Given the description of an element on the screen output the (x, y) to click on. 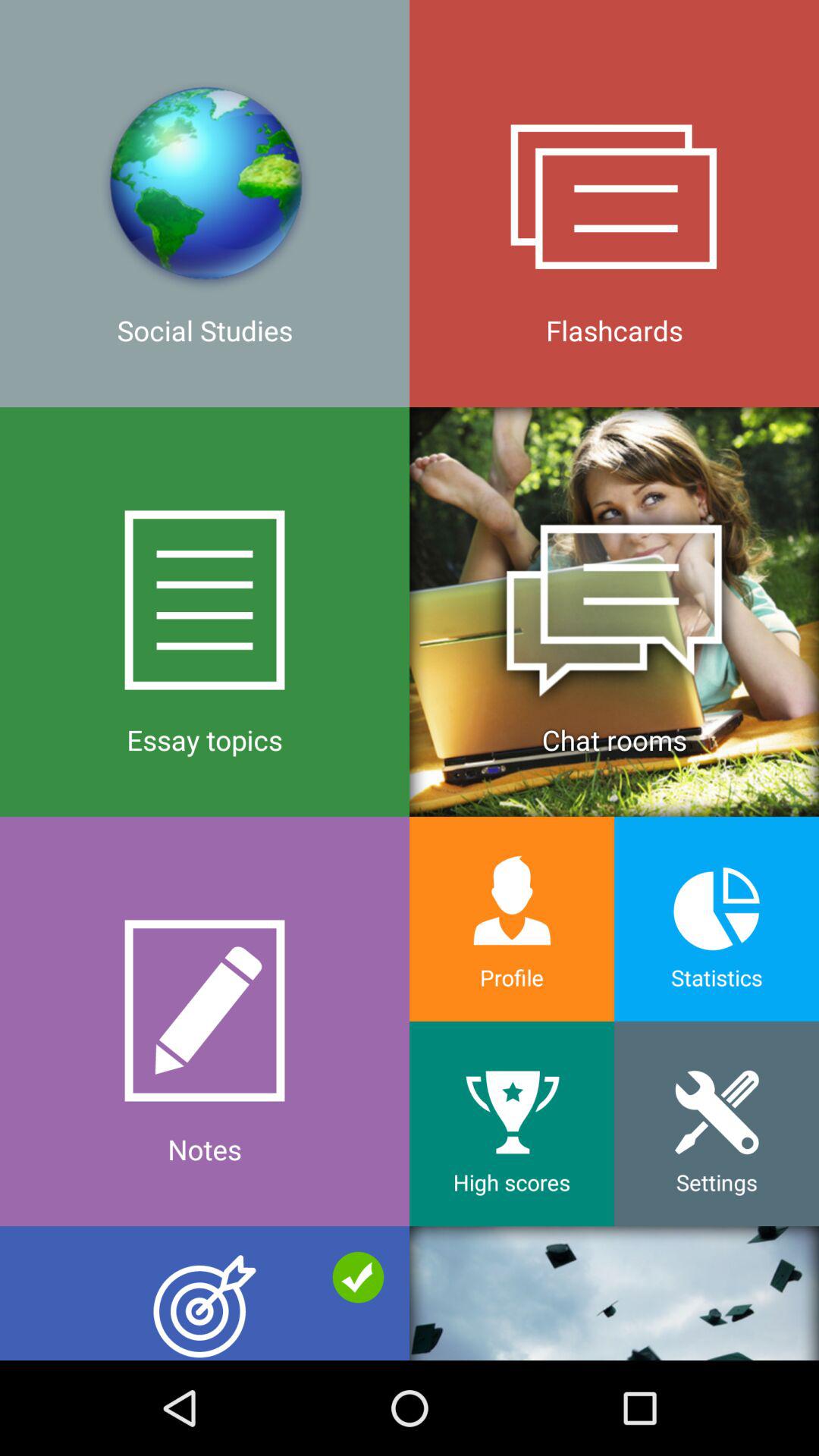
click the icon next to the essay topics icon (511, 918)
